Given the description of an element on the screen output the (x, y) to click on. 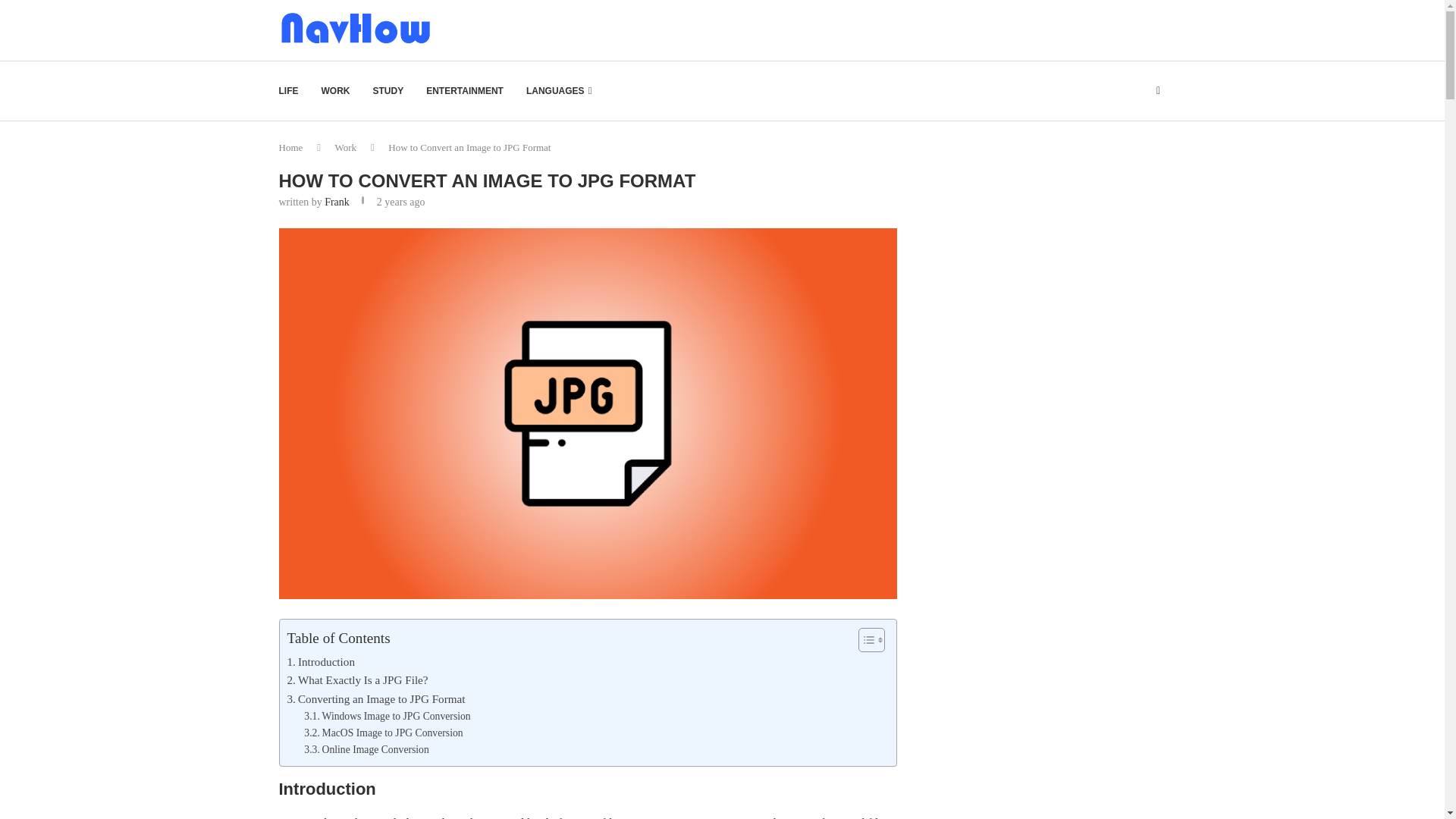
STUDY (388, 90)
LIFE (288, 90)
LANGUAGES (558, 90)
ENTERTAINMENT (464, 90)
WORK (335, 90)
